Given the description of an element on the screen output the (x, y) to click on. 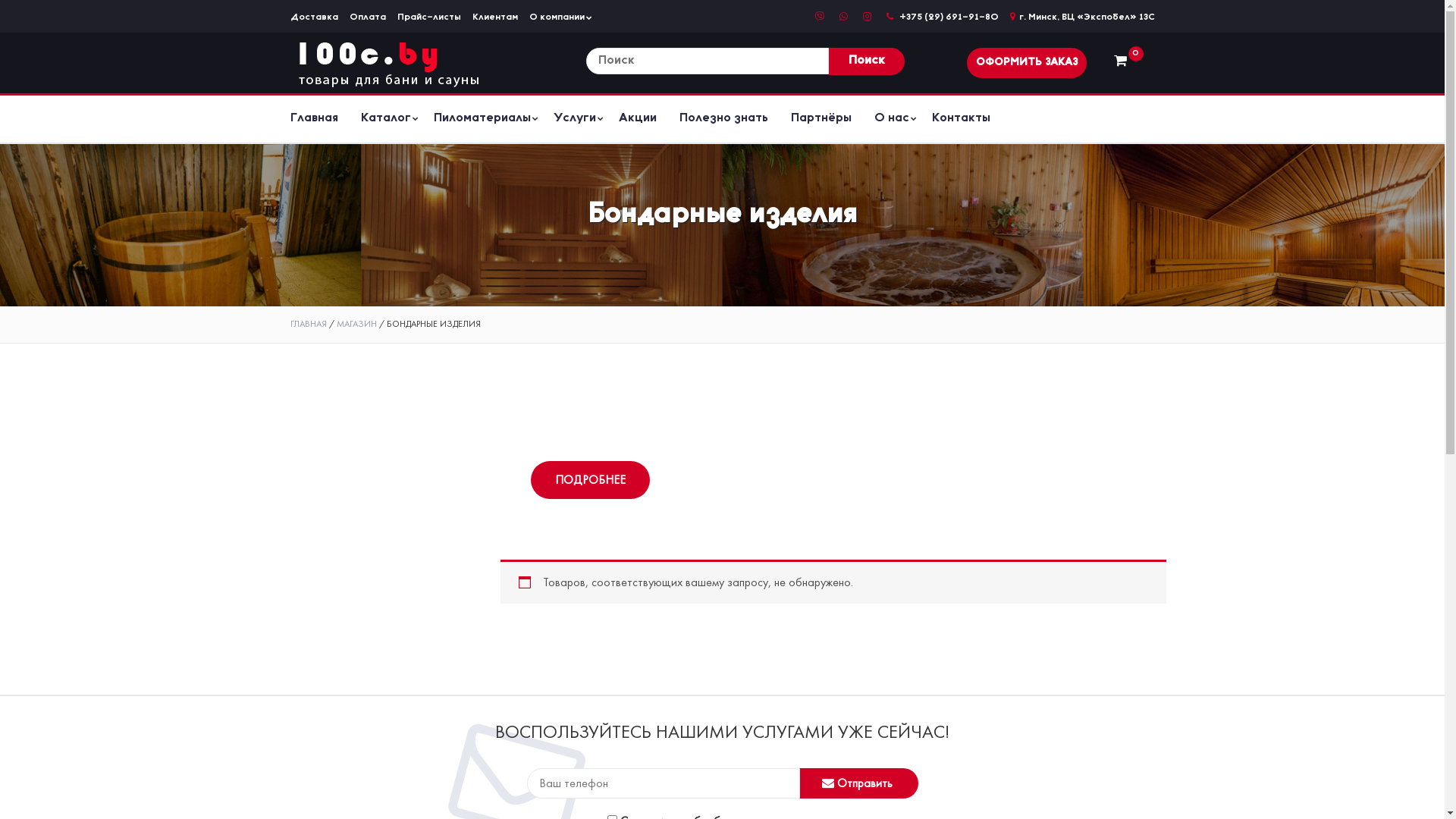
+375 (29) 691-91-80 Element type: text (941, 16)
0 Element type: text (1119, 60)
